Given the description of an element on the screen output the (x, y) to click on. 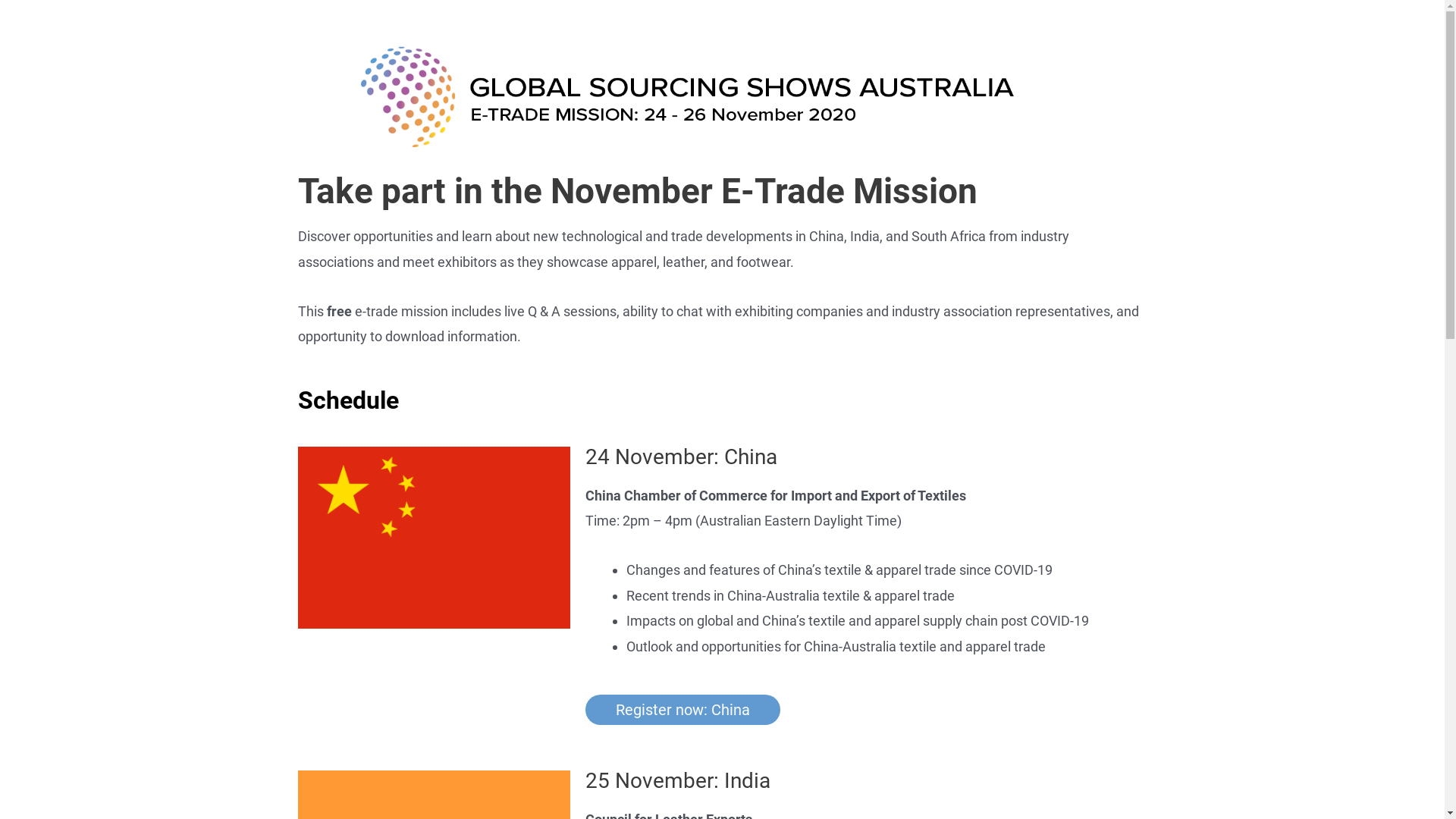
Register now: China Element type: text (682, 709)
